Given the description of an element on the screen output the (x, y) to click on. 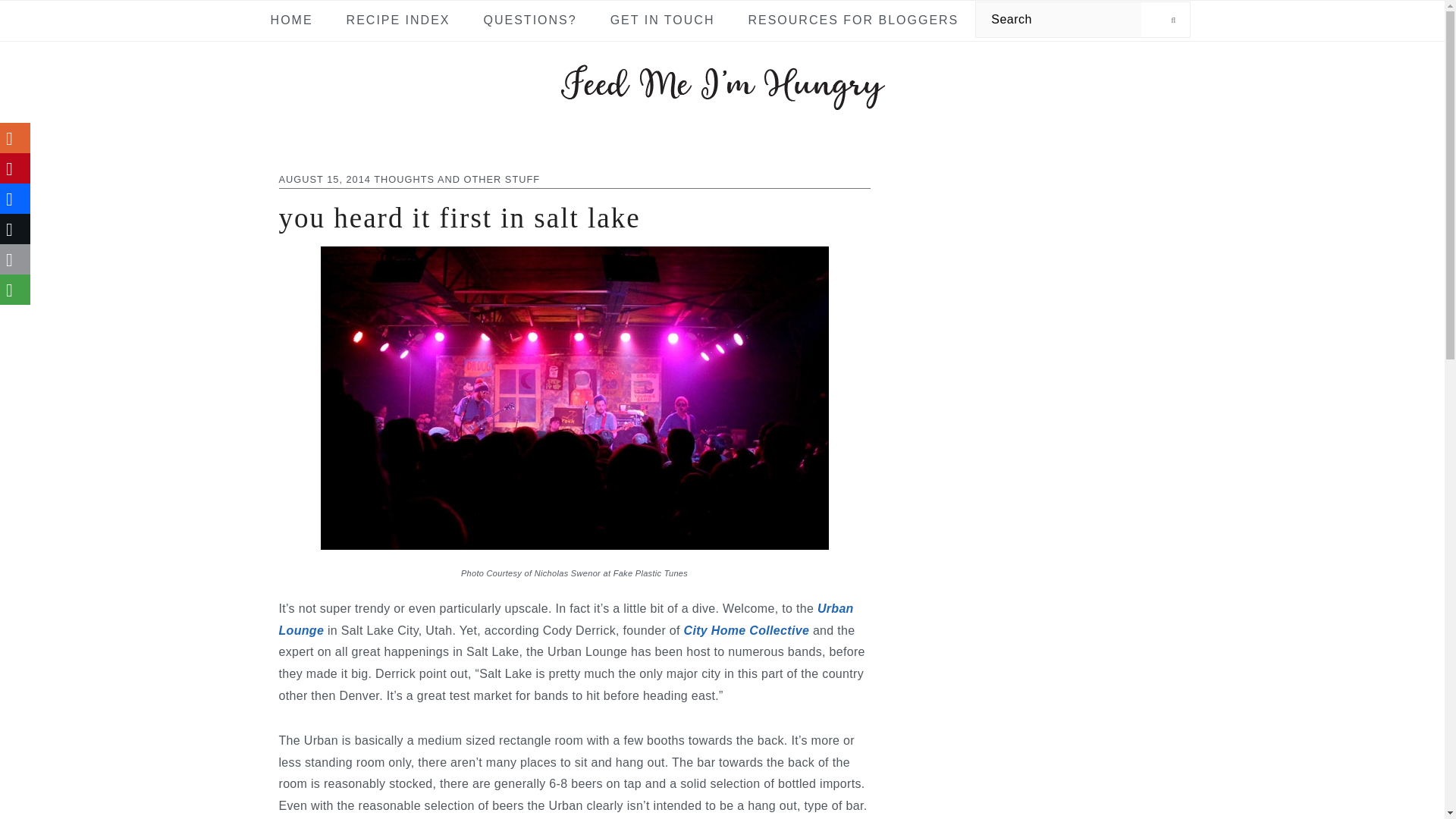
Yummly (15, 137)
RECIPE INDEX (397, 20)
HOME (291, 20)
Pinterest (15, 168)
RESOURCES FOR BLOGGERS (852, 20)
Email This (15, 259)
City Home Collective (746, 630)
THOUGHTS AND OTHER STUFF (457, 179)
QUESTIONS? (530, 20)
Facebook (15, 198)
Feed Me I'm Hungry (722, 101)
More Options (15, 289)
Feed Me I'm Hungry (722, 77)
GET IN TOUCH (662, 20)
